Given the description of an element on the screen output the (x, y) to click on. 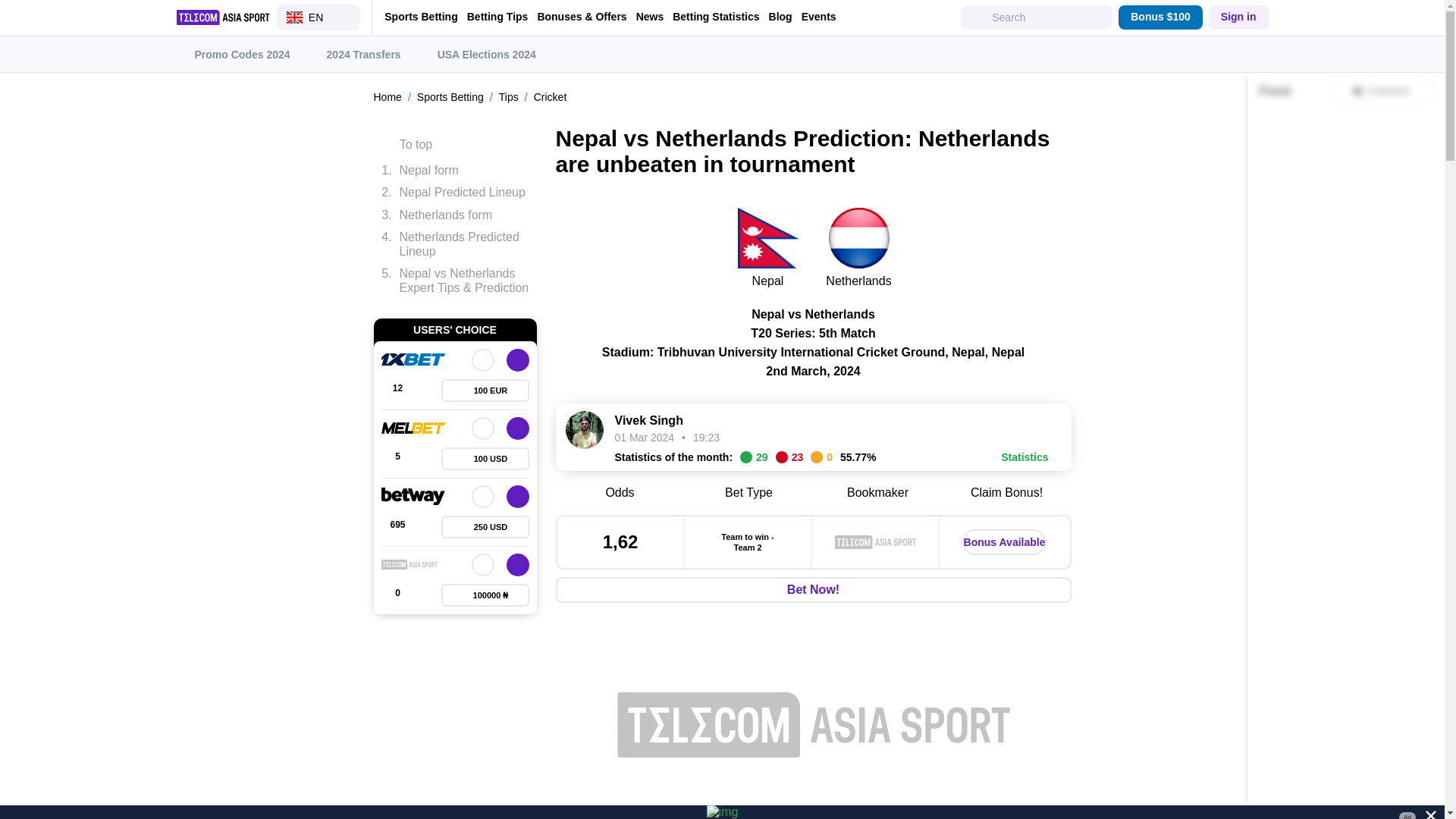
Reviews (396, 458)
Bonuses (485, 390)
To the website (517, 496)
OVERVIEW (483, 427)
Reviews (396, 526)
OVERVIEW (483, 359)
To the website (517, 427)
EN (317, 17)
OVERVIEW (483, 564)
To the website (517, 564)
